Given the description of an element on the screen output the (x, y) to click on. 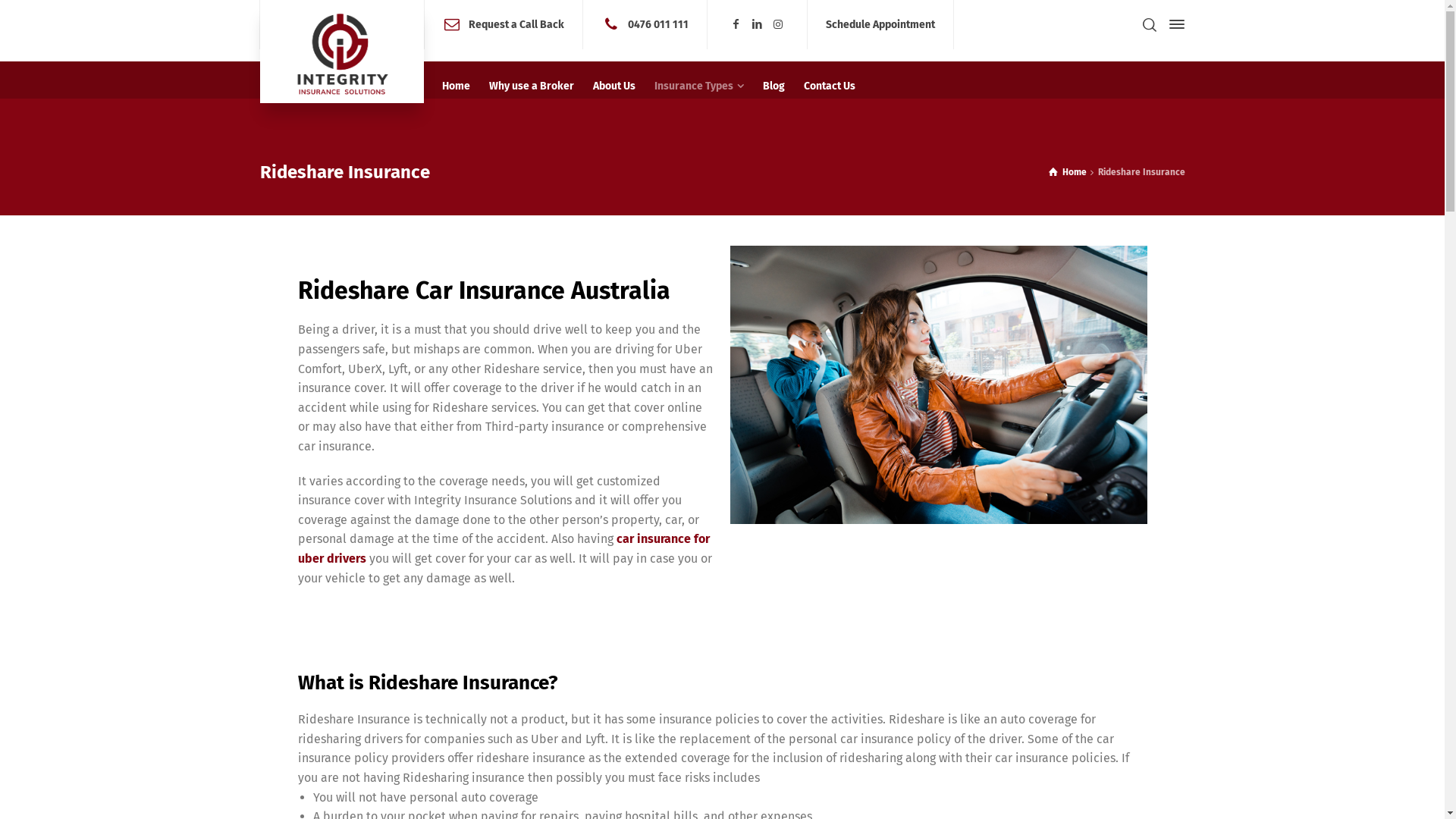
Contact Us Element type: text (829, 85)
car insurance for uber drivers Element type: text (503, 548)
Instagram Element type: hover (777, 24)
Insurance Types Element type: text (698, 85)
Why use a Broker Element type: text (531, 85)
Schedule Appointment Element type: text (880, 24)
0476 011 111 Element type: text (657, 23)
Home Element type: text (455, 85)
Home Element type: text (1067, 171)
Blog Element type: text (773, 85)
Facebook Element type: hover (735, 24)
Integrity Insurance Solutions Element type: hover (340, 51)
About Us Element type: text (614, 85)
Request a Call Back Element type: text (516, 23)
Search Element type: hover (1148, 24)
Linkedin Element type: hover (757, 24)
